Given the description of an element on the screen output the (x, y) to click on. 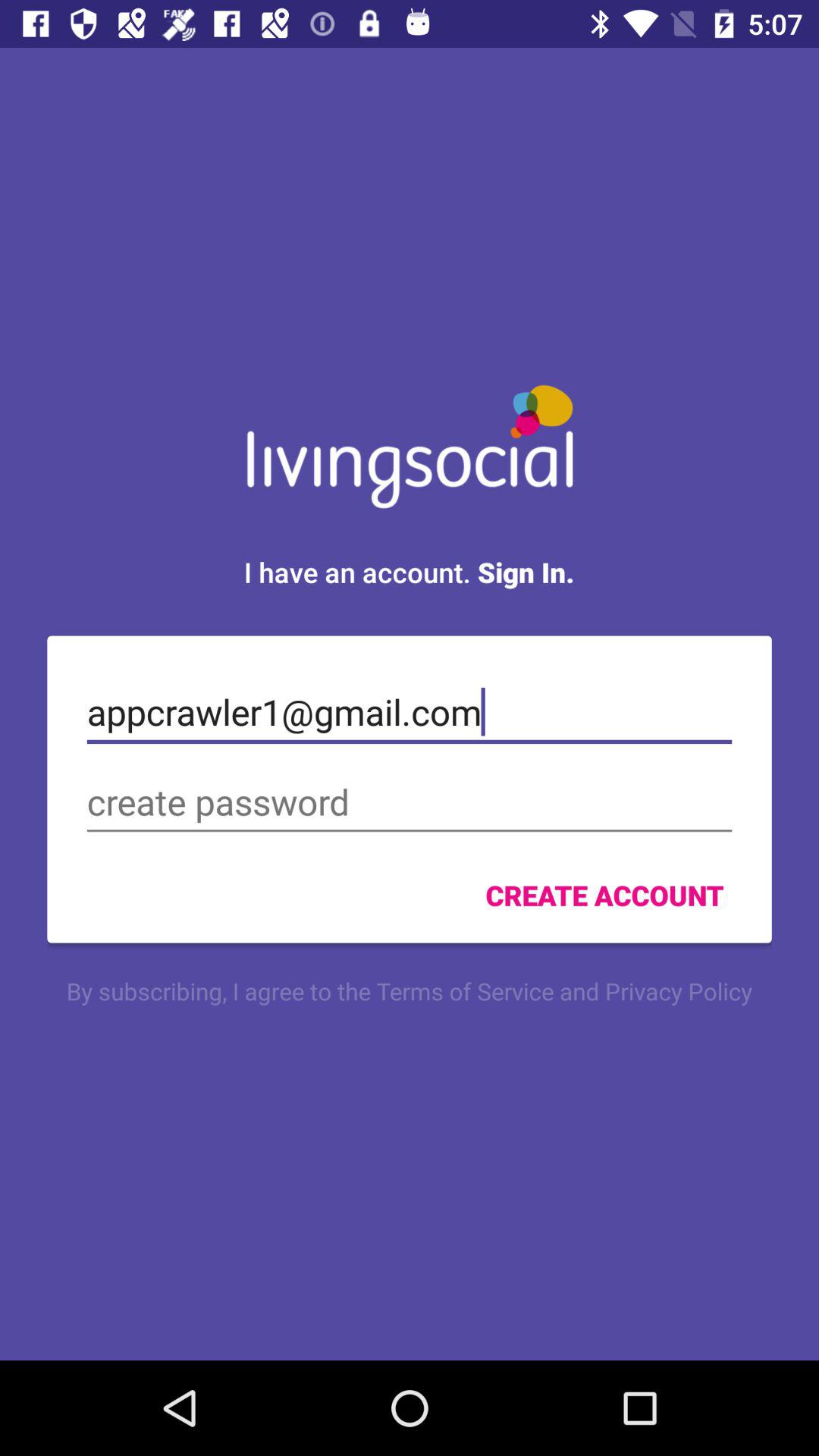
select item above by subscribing i item (604, 894)
